Given the description of an element on the screen output the (x, y) to click on. 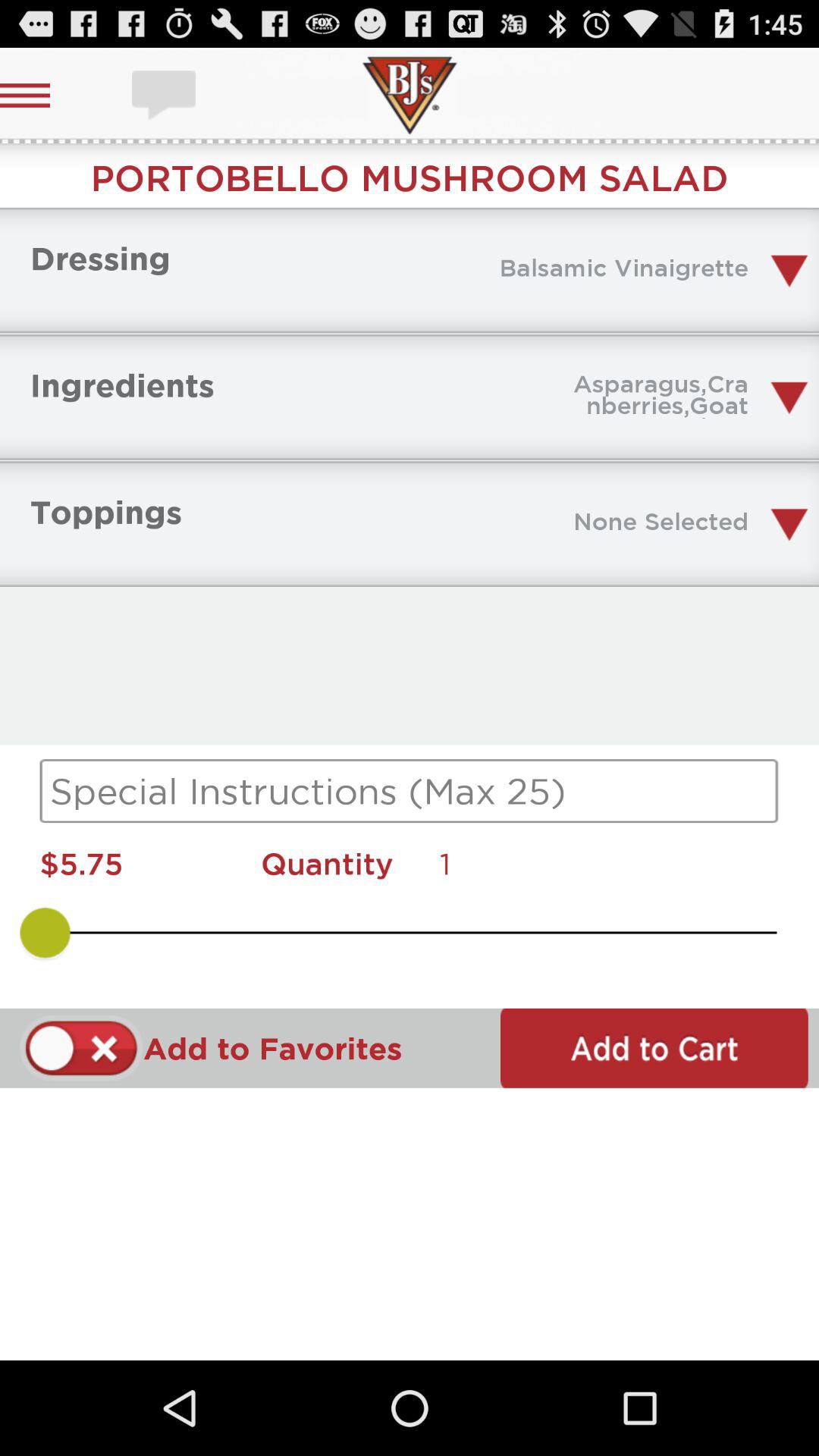
chat option (165, 95)
